Given the description of an element on the screen output the (x, y) to click on. 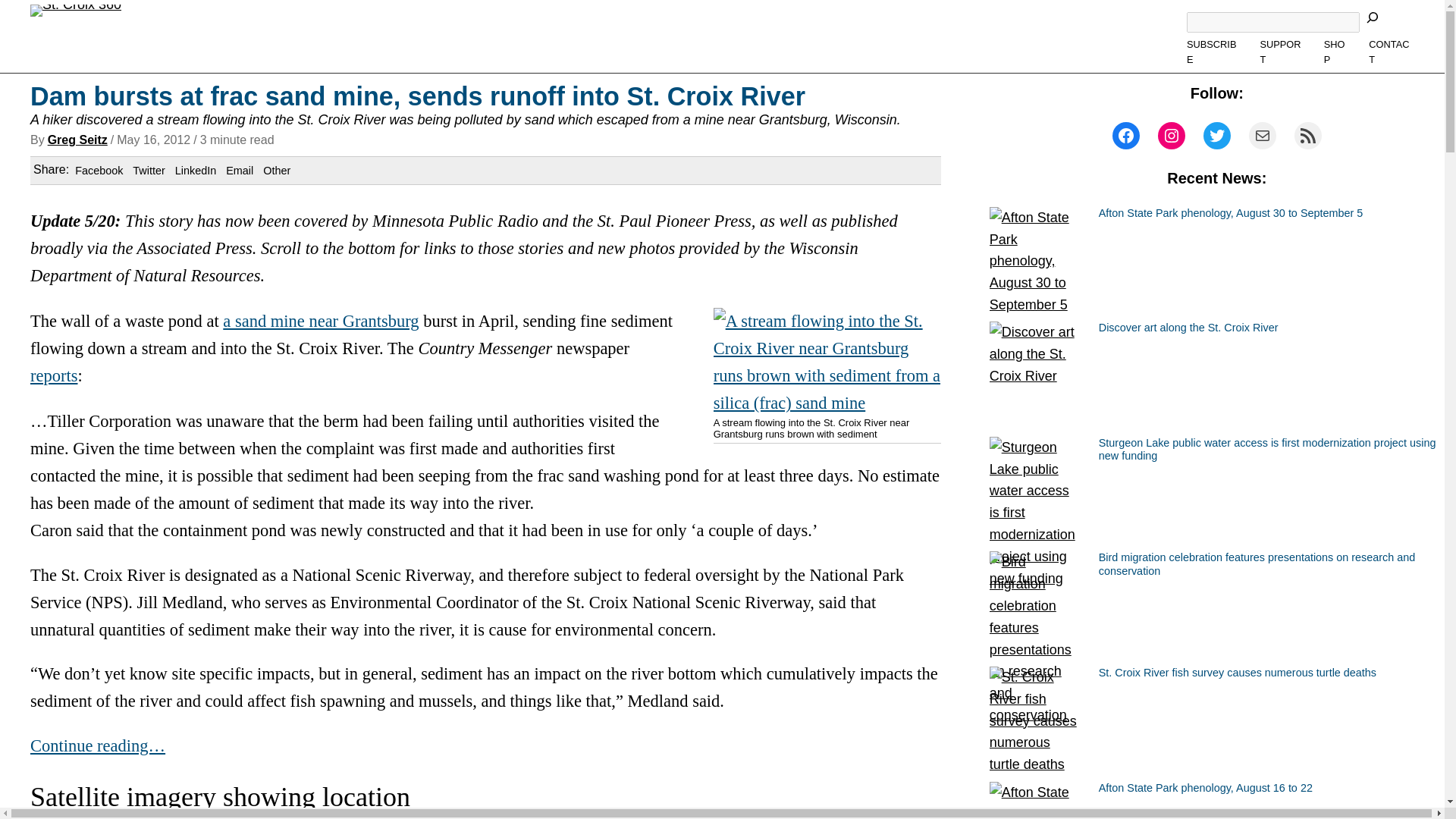
Facebook (1126, 135)
Email (239, 170)
Mail (1262, 135)
Twitter (148, 170)
reports (53, 375)
Facebook (98, 170)
a sand mine near Grantsburg (320, 321)
Instagram (1171, 135)
Greg Seitz (77, 139)
RSS Feed (1308, 135)
